Given the description of an element on the screen output the (x, y) to click on. 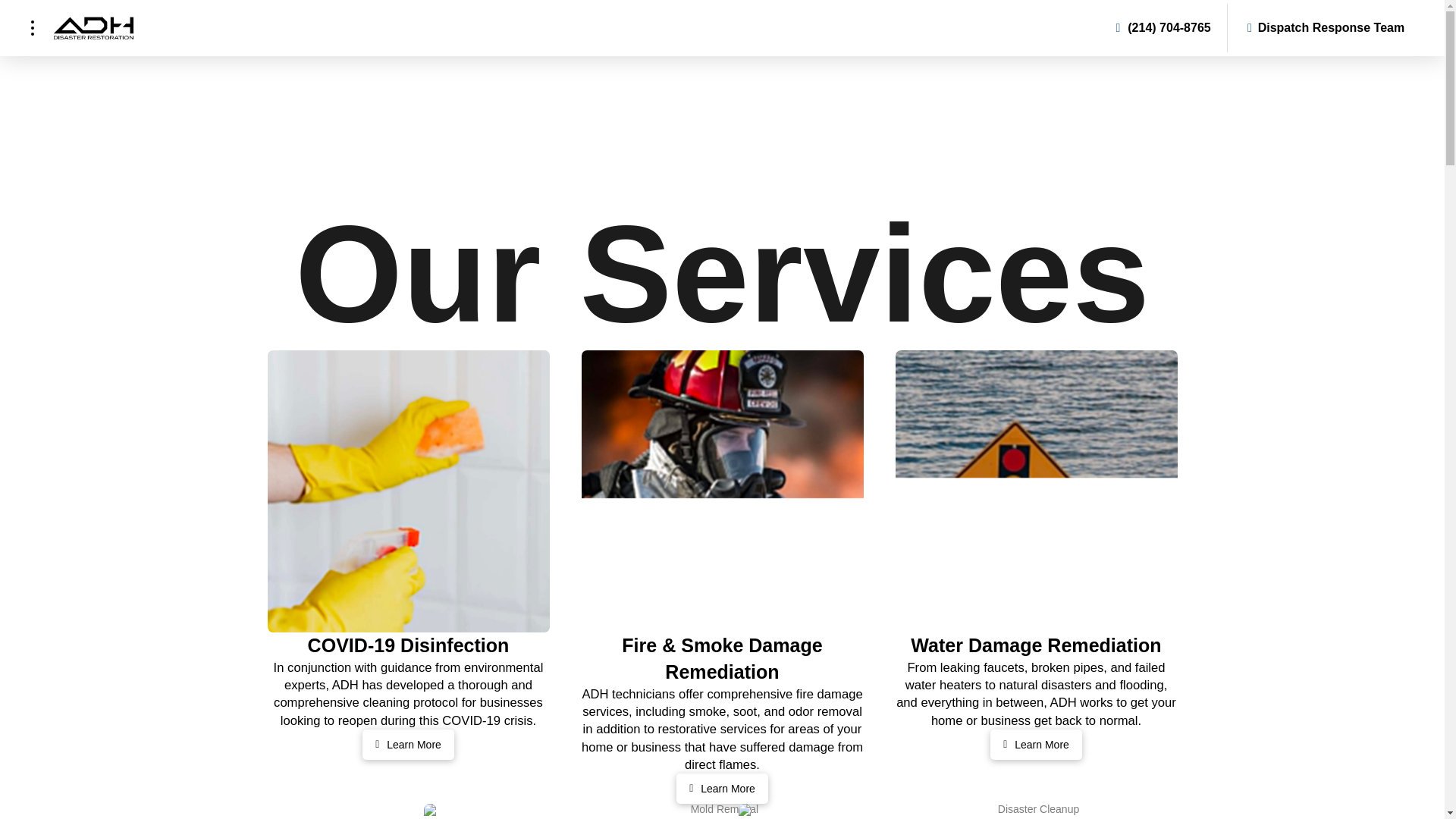
Learn More (722, 788)
Learn More (408, 744)
Dispatch Response Team (1331, 27)
Learn More (1035, 744)
